Given the description of an element on the screen output the (x, y) to click on. 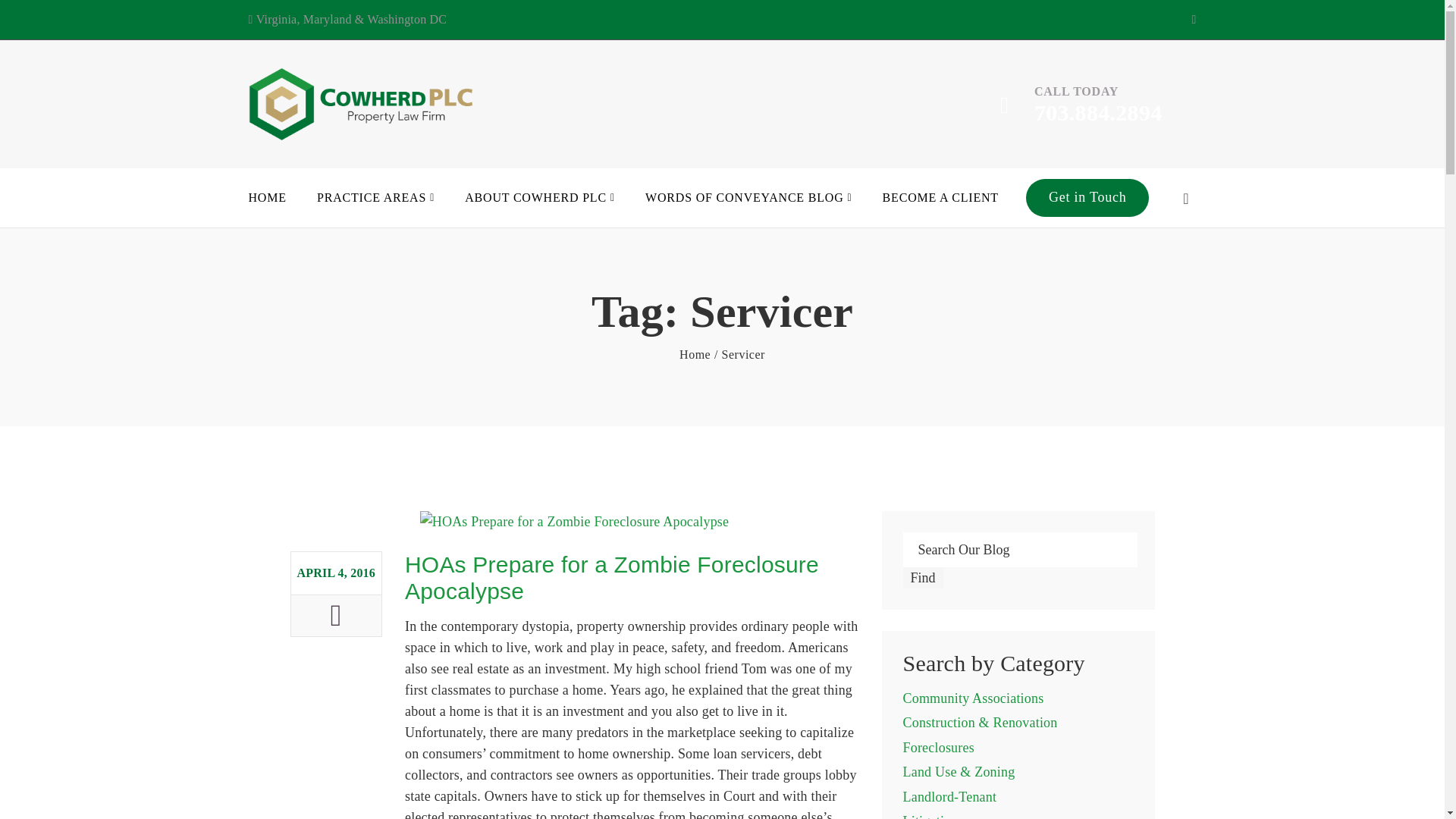
Cowherd PLC - Property Law Firm, Representing Landowners (362, 104)
Cowherd PLC (694, 354)
Home (694, 354)
WORDS OF CONVEYANCE BLOG (748, 197)
PRACTICE AREAS (375, 197)
HOAs Prepare for a Zombie Foreclosure Apocalypse (611, 577)
HOME (267, 197)
Get in Touch (1087, 198)
ABOUT COWHERD PLC (539, 197)
BECOME A CLIENT (940, 197)
